Given the description of an element on the screen output the (x, y) to click on. 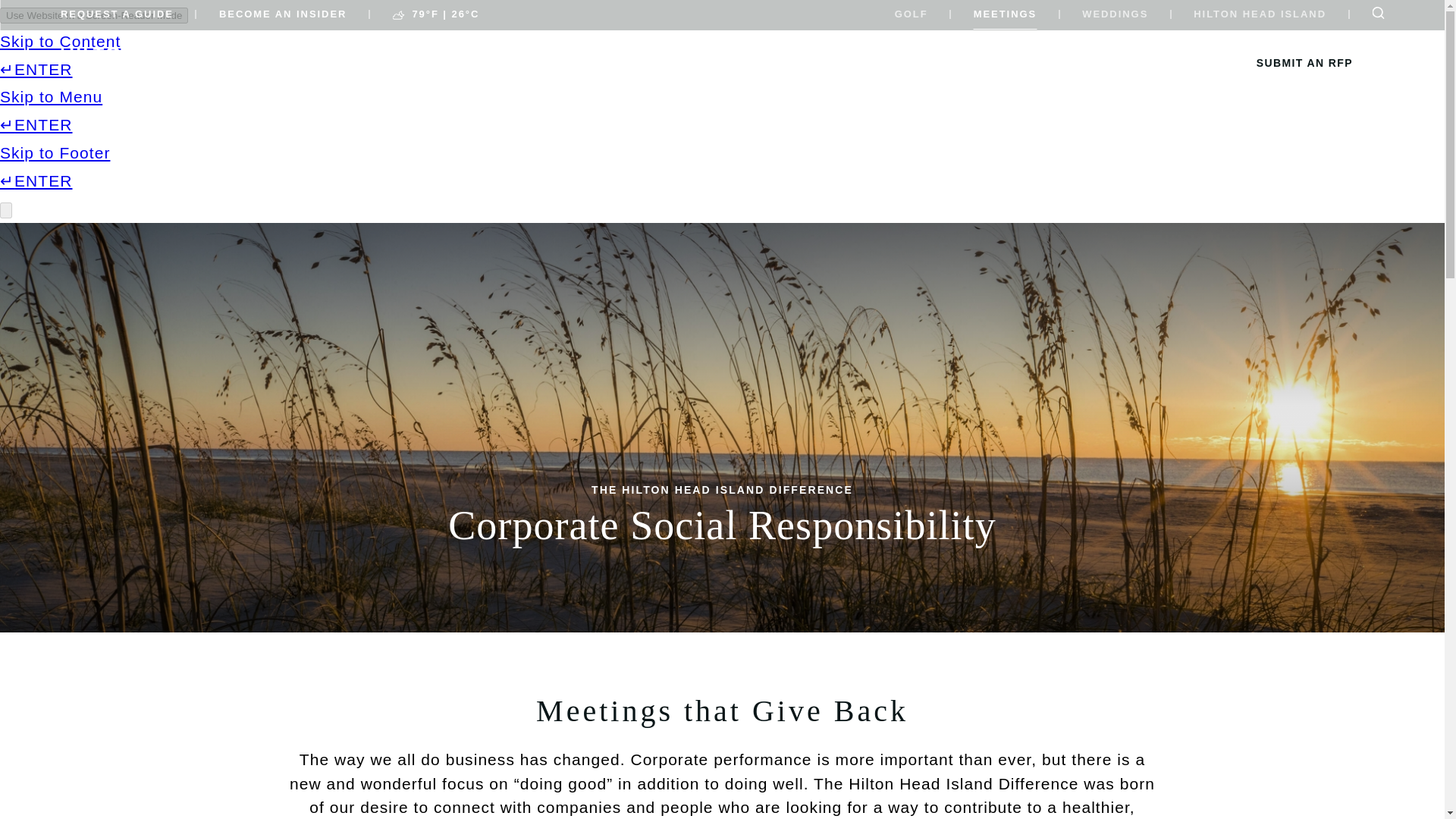
MEETINGS (1005, 14)
WHY HILTON HEAD (894, 64)
REQUEST A GUIDE (117, 14)
OUR EXPERTS (1149, 64)
GOLF (911, 14)
SUBMIT AN RFP (1304, 62)
Partly cloudy (397, 15)
ITINERARIES (1030, 64)
BECOME AN INSIDER (282, 14)
WEDDINGS (1114, 14)
PLANNING (680, 64)
HILTON HEAD ISLAND (1259, 14)
